Given the description of an element on the screen output the (x, y) to click on. 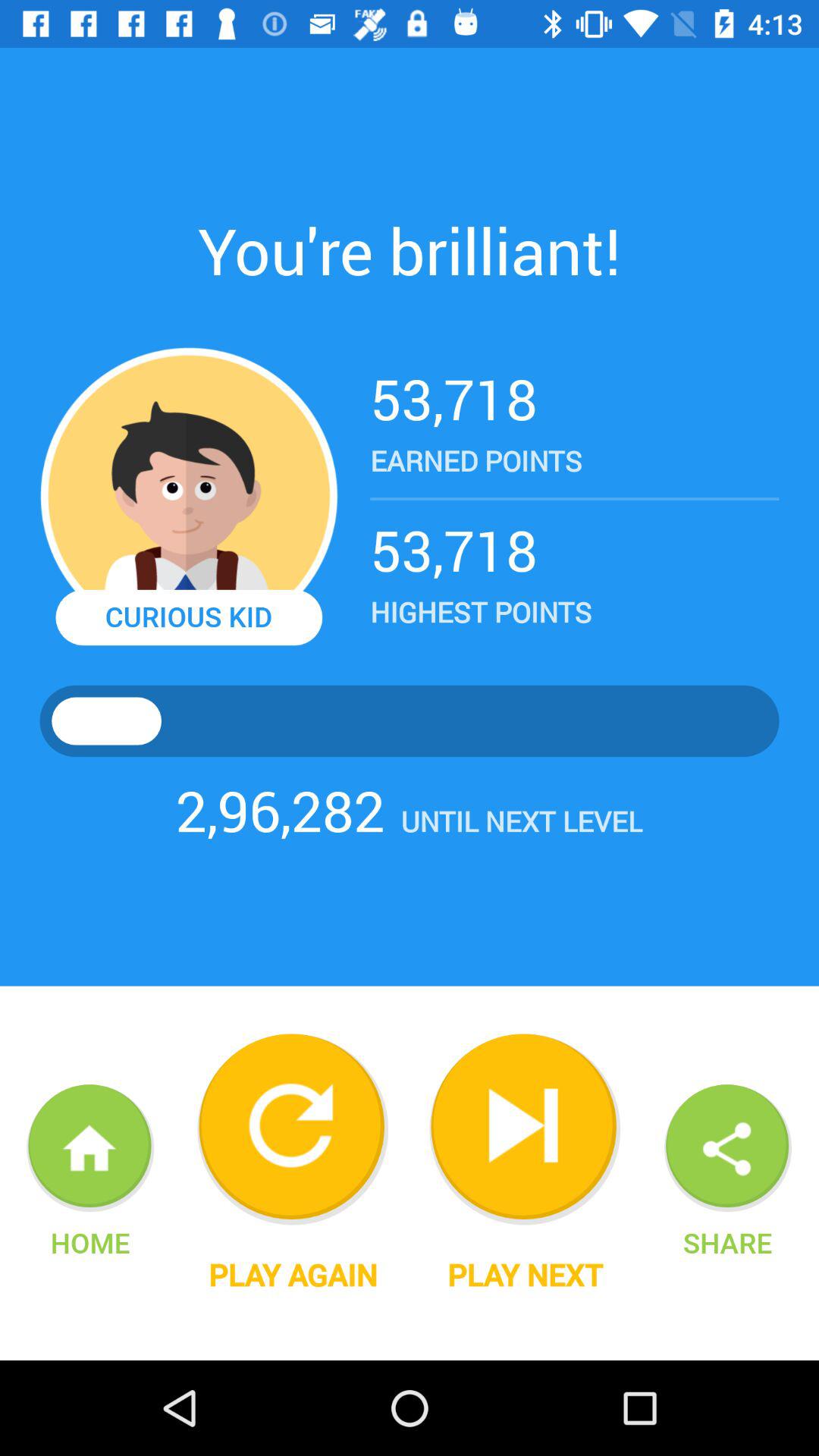
flip to play again item (292, 1274)
